Given the description of an element on the screen output the (x, y) to click on. 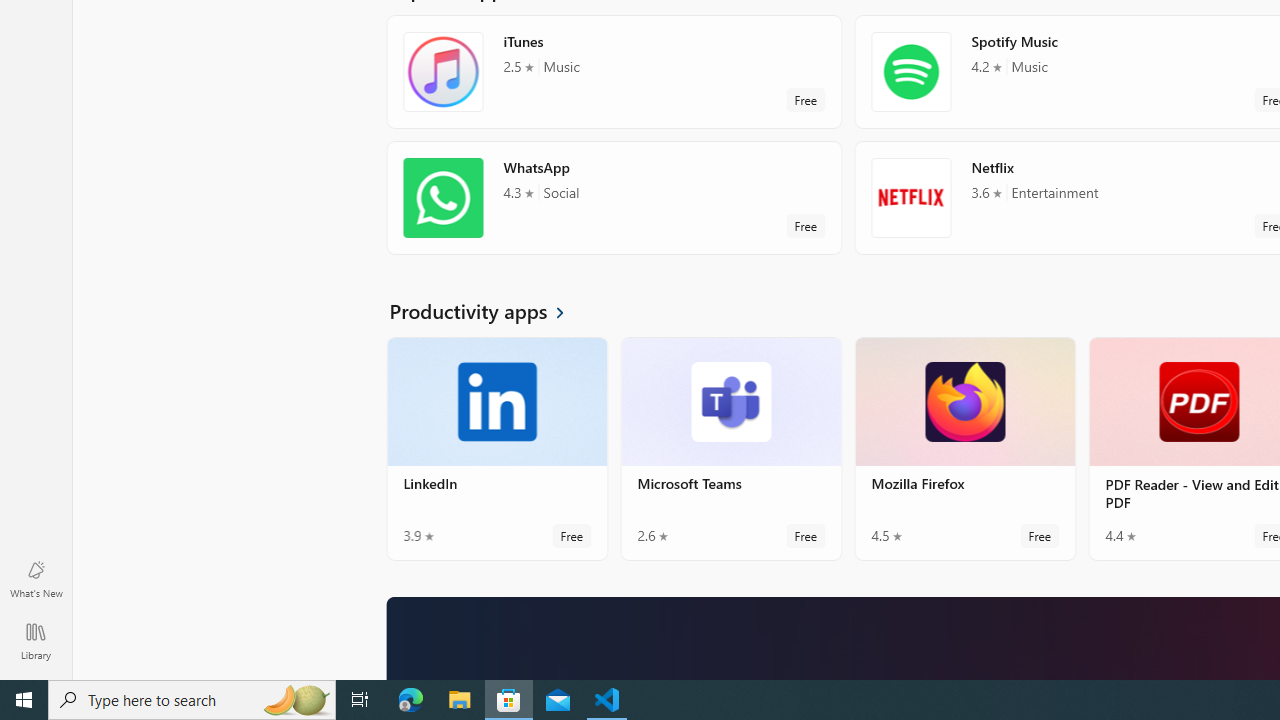
See all  Productivity apps (488, 318)
WhatsApp. Average rating of 4.3 out of five stars. Free   (614, 205)
LinkedIn. Average rating of 3.9 out of five stars. Free   (497, 456)
iTunes. Average rating of 2.5 out of five stars. Free   (614, 79)
